Given the description of an element on the screen output the (x, y) to click on. 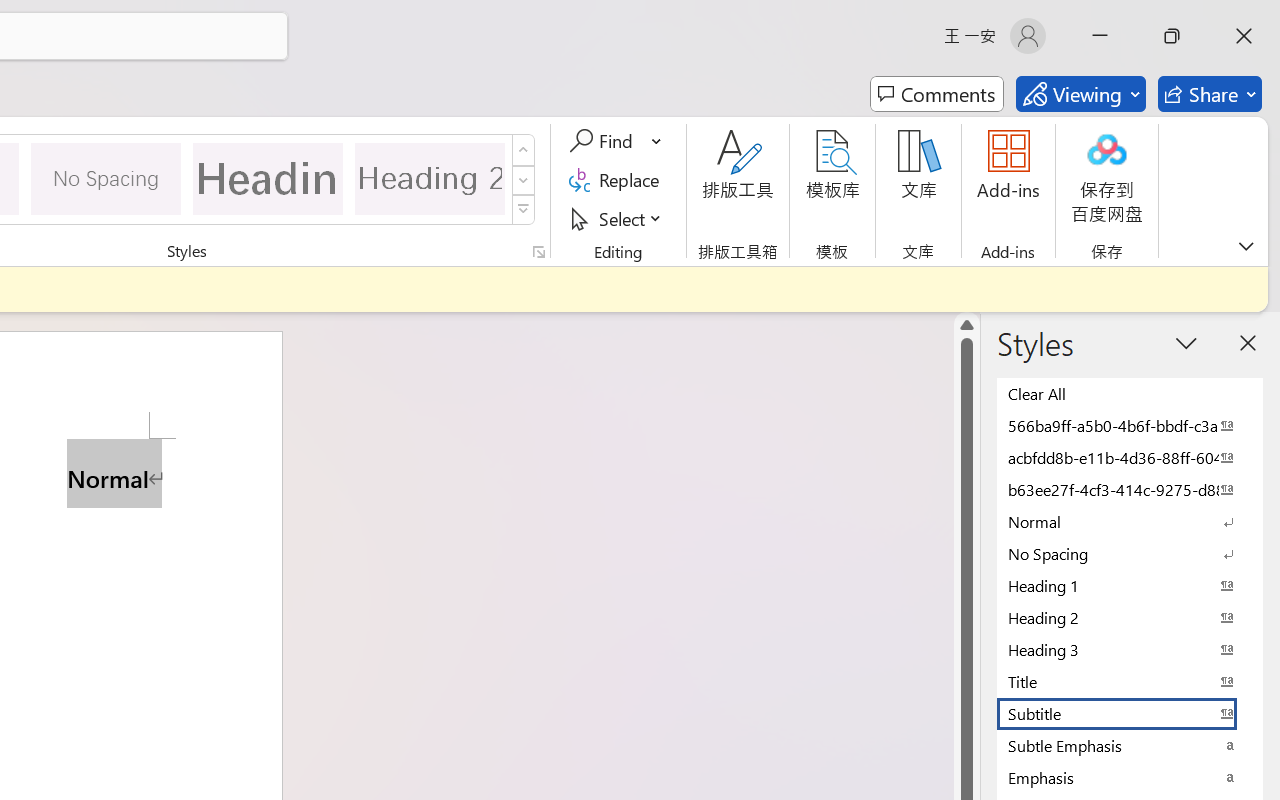
Replace... (617, 179)
Ribbon Display Options (1246, 245)
Heading 2 (429, 178)
Subtitle (1130, 713)
Row Down (523, 180)
Heading 3 (1130, 649)
